Given the description of an element on the screen output the (x, y) to click on. 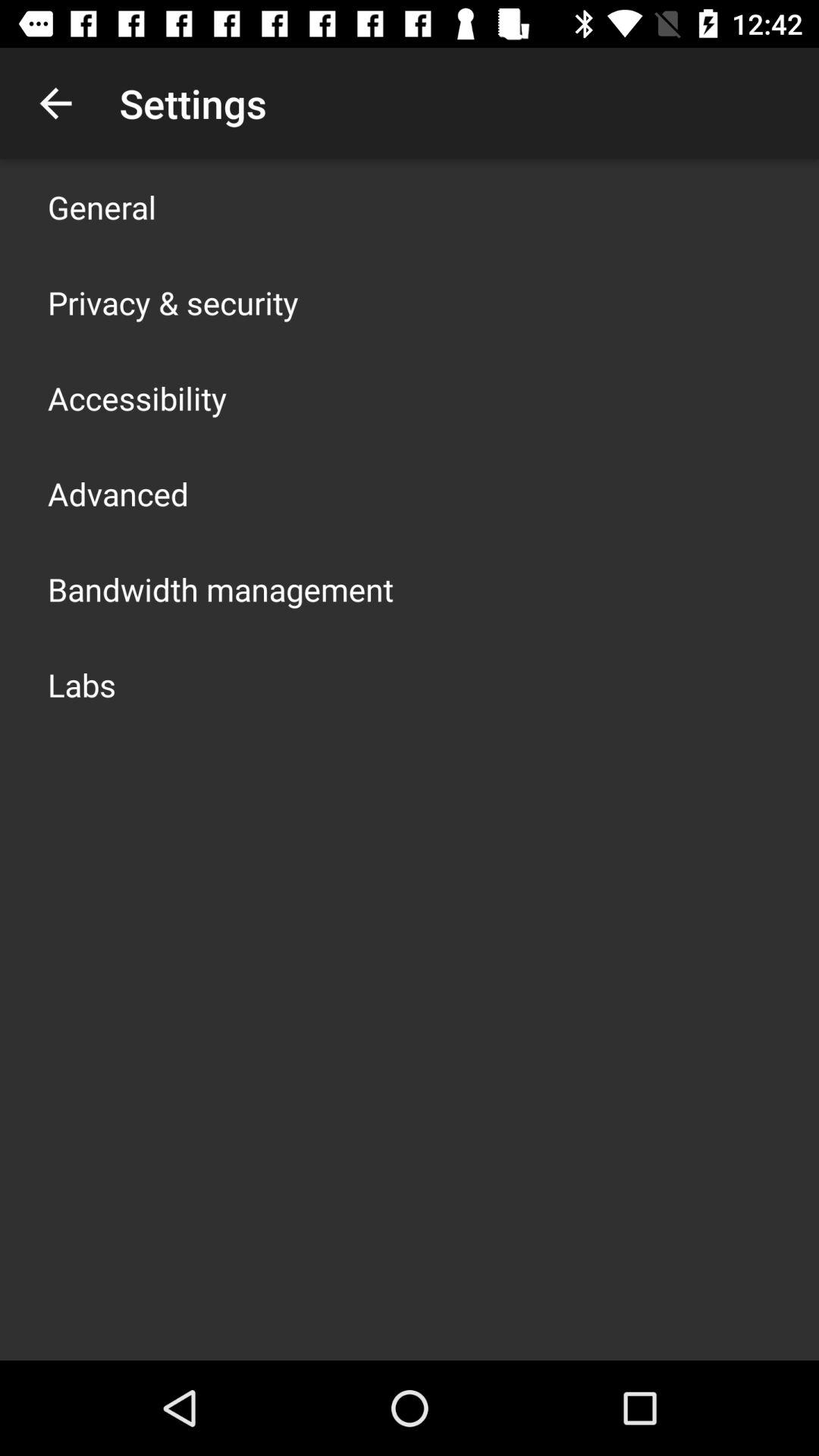
choose app above the labs app (220, 588)
